Given the description of an element on the screen output the (x, y) to click on. 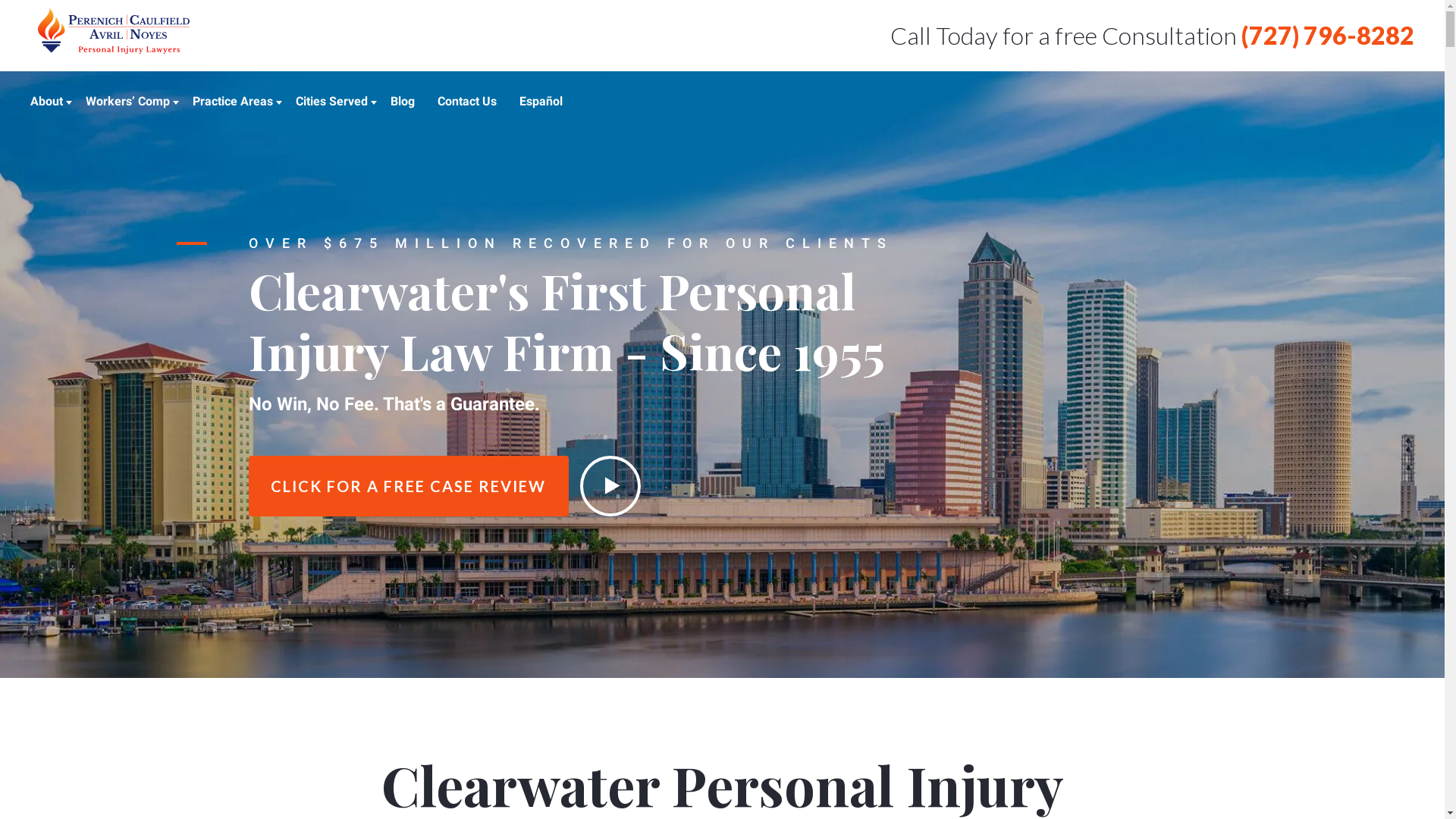
About Element type: text (46, 101)
(727) 796-8282 Element type: text (1327, 35)
Practice Areas Element type: text (232, 101)
Contact Us Element type: text (466, 101)
Cities Served Element type: text (331, 101)
Blog Element type: text (402, 101)
CLICK FOR A FREE CASE REVIEW Element type: text (408, 485)
